Given the description of an element on the screen output the (x, y) to click on. 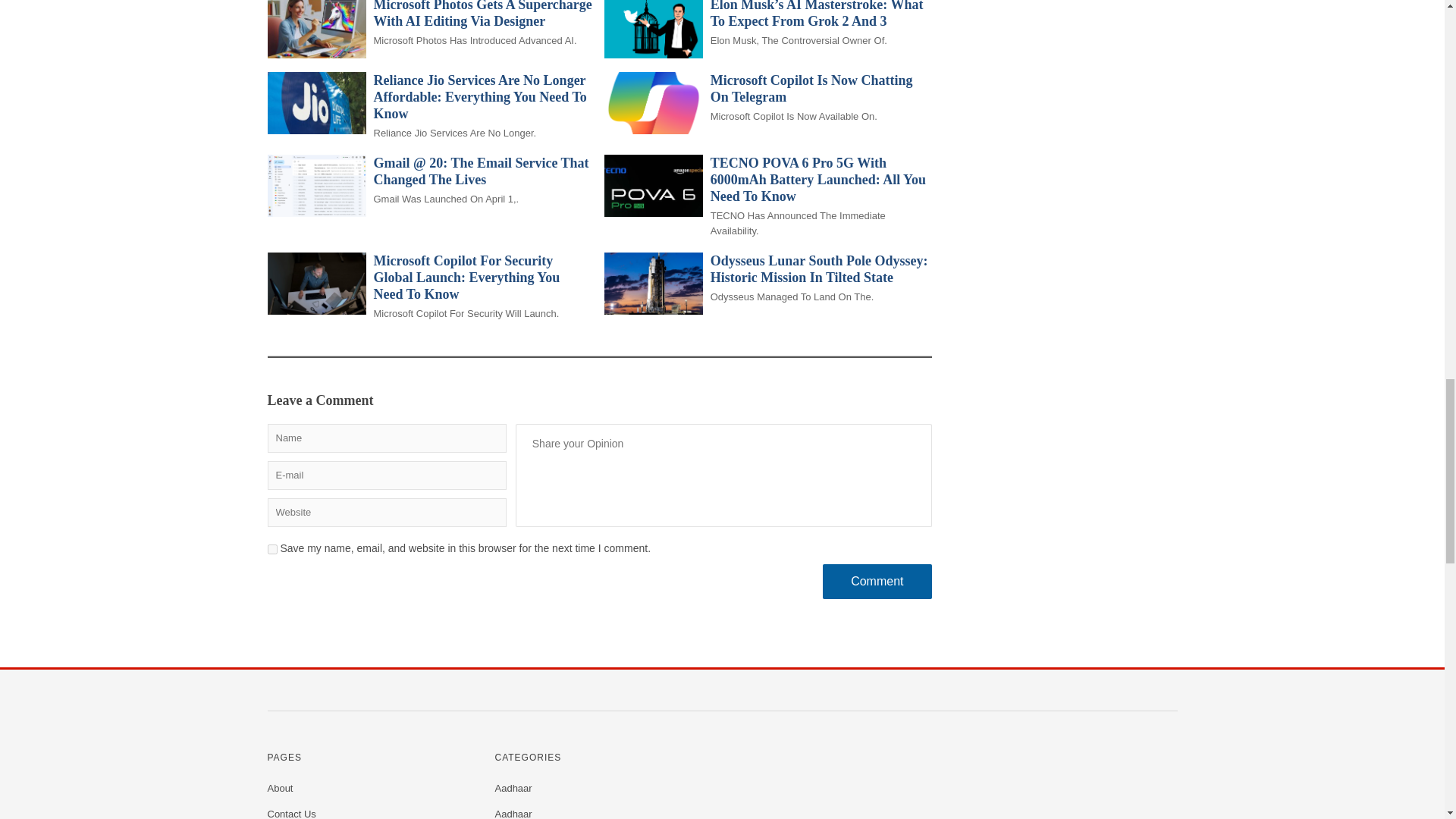
Comment (876, 581)
yes (271, 549)
